Given the description of an element on the screen output the (x, y) to click on. 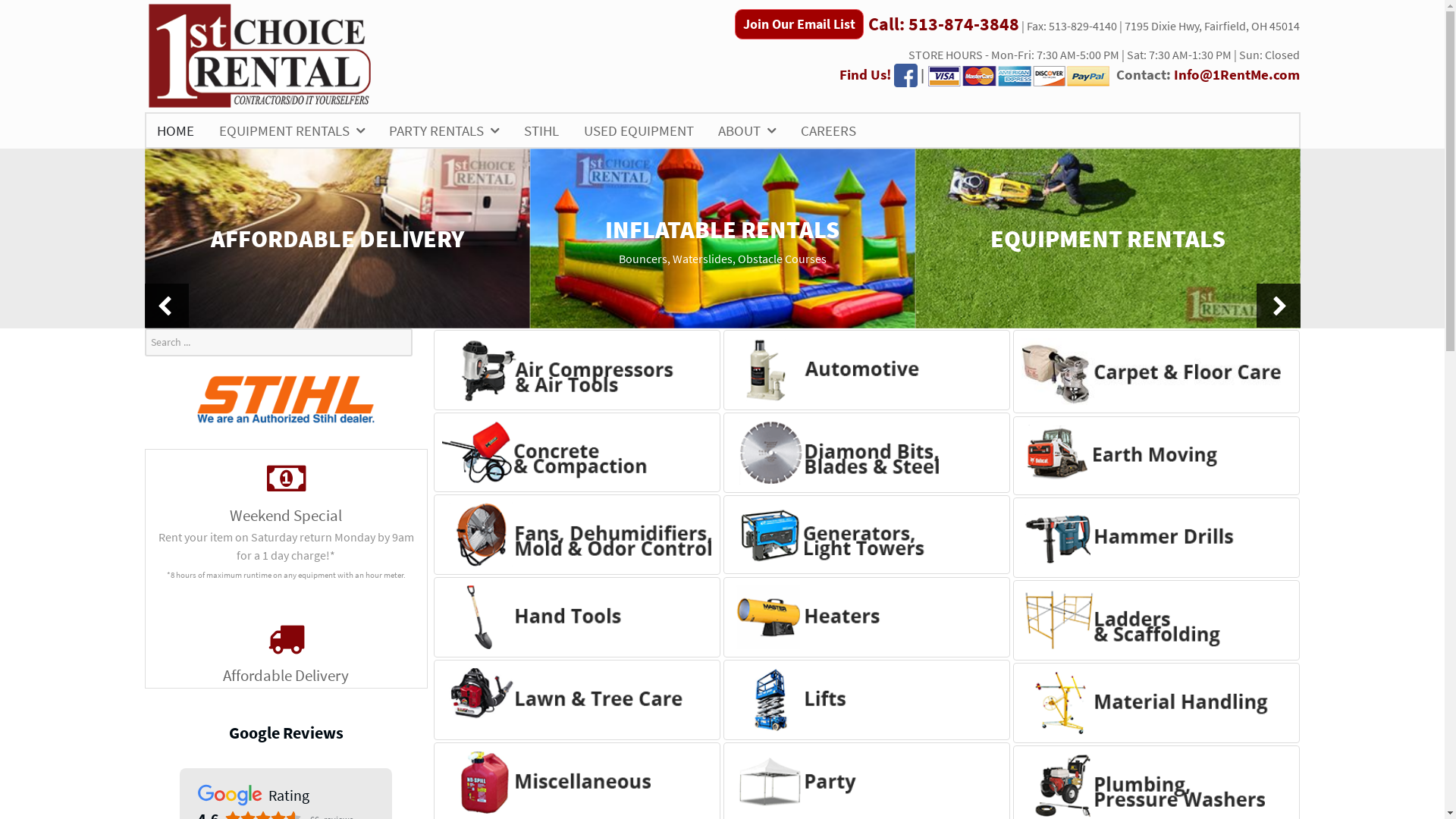
HOME Element type: text (175, 130)
Join Our Email List Element type: text (798, 24)
Info@1RentMe.com Element type: text (1236, 74)
Find Us! Element type: text (865, 74)
AFFORDABLE DELIVERY Element type: text (336, 238)
CAREERS Element type: text (828, 130)
STIHL Element type: text (541, 130)
Call: 513-874-3848 Element type: text (943, 25)
EQUIPMENT RENTALS Element type: text (291, 130)
EQUIPMENT RENTALS Element type: text (1106, 238)
PARTY RENTALS Element type: text (444, 130)
ABOUT Element type: text (746, 130)
INFLATABLE RENTALS
Bouncers, Waterslides, Obstacle Courses Element type: text (721, 238)
USED EQUIPMENT Element type: text (638, 130)
